Given the description of an element on the screen output the (x, y) to click on. 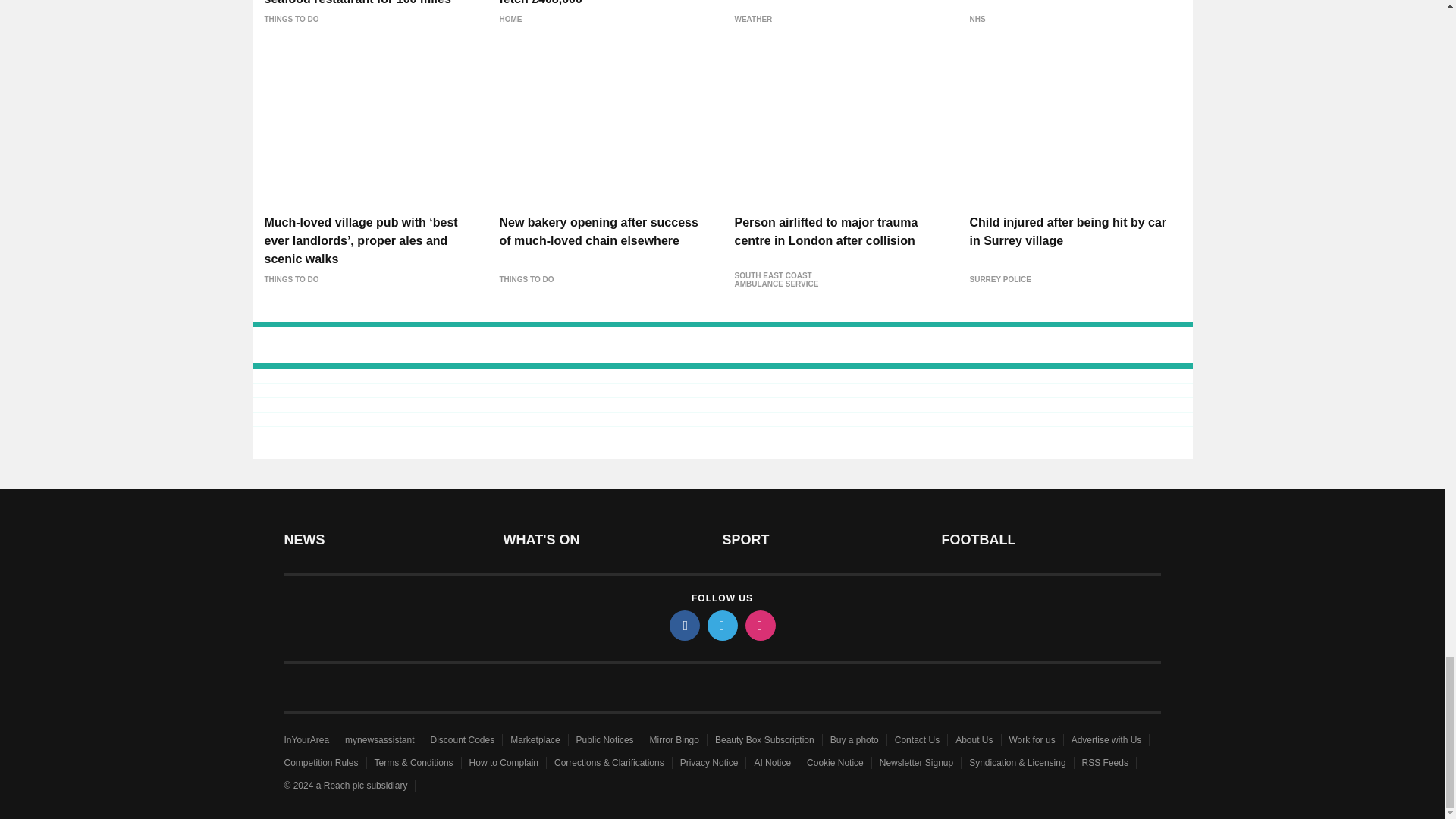
twitter (721, 625)
facebook (683, 625)
instagram (759, 625)
